Given the description of an element on the screen output the (x, y) to click on. 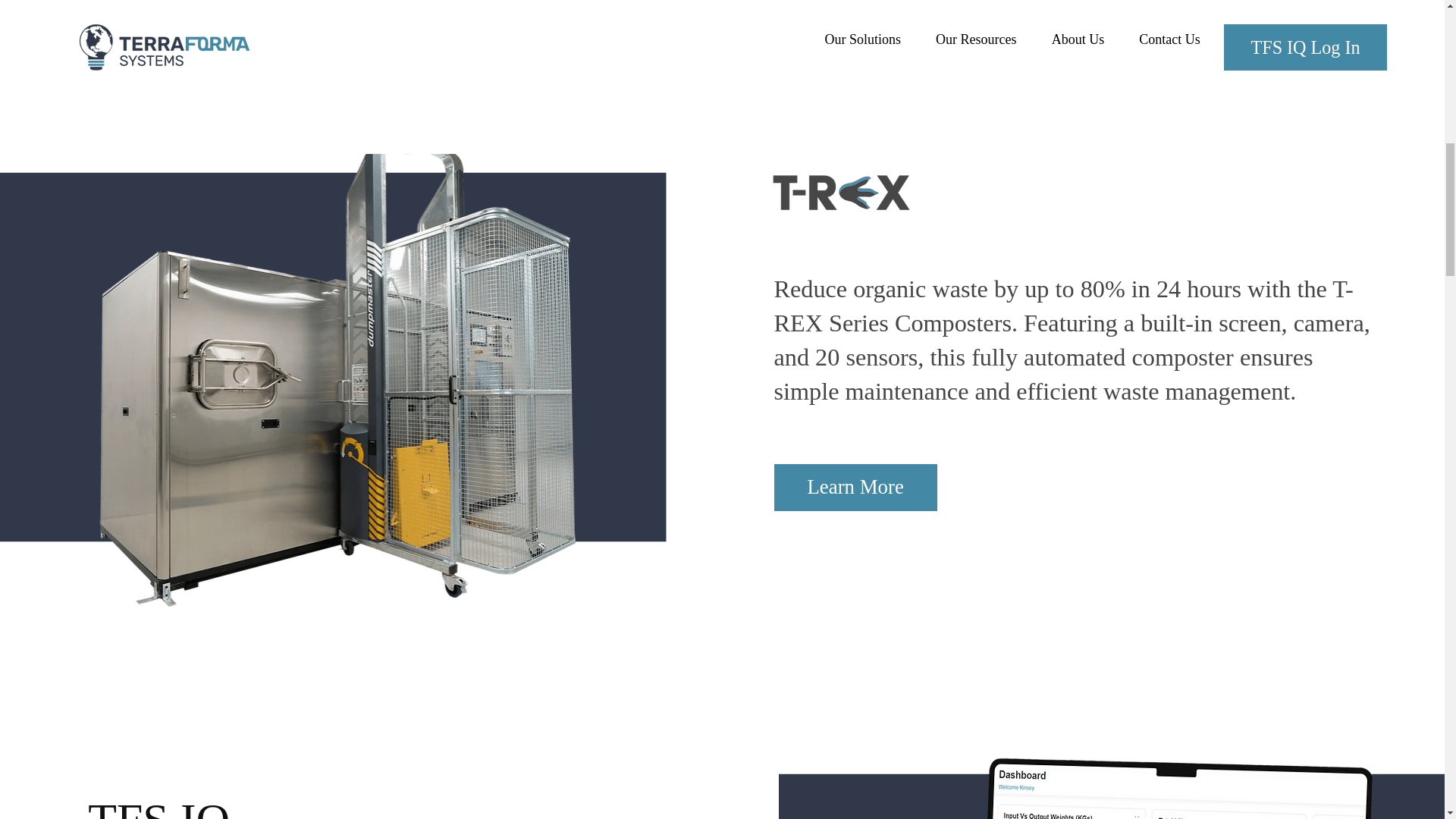
waste management (1196, 390)
Learn More (855, 487)
T-REX Series Composters (1062, 305)
